Given the description of an element on the screen output the (x, y) to click on. 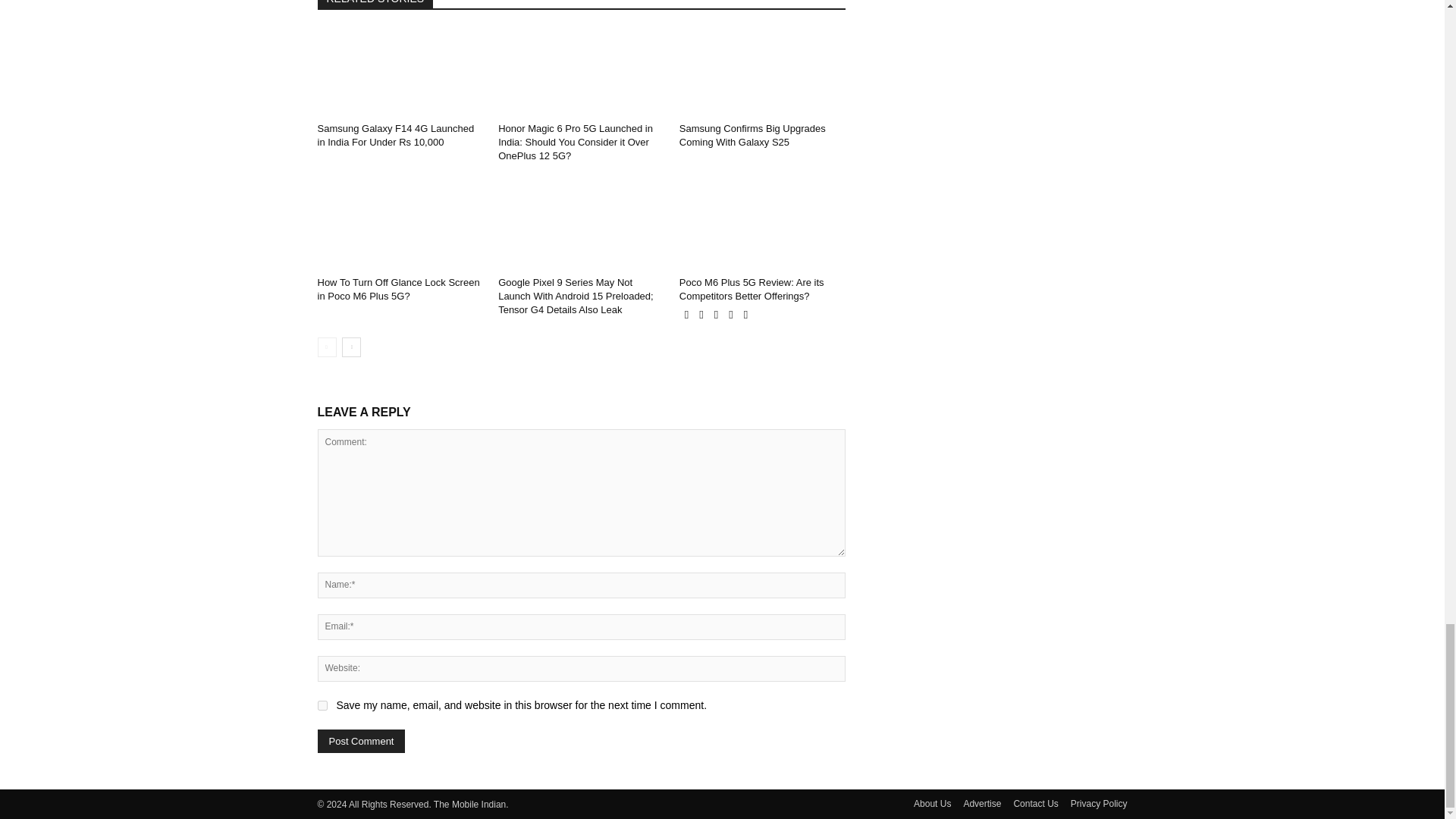
yes (321, 705)
Samsung Galaxy F14 4G Launched in India For Under Rs 10,000 (400, 70)
Samsung Galaxy F14 4G Launched in India For Under Rs 10,000 (395, 135)
Post Comment (360, 740)
